Given the description of an element on the screen output the (x, y) to click on. 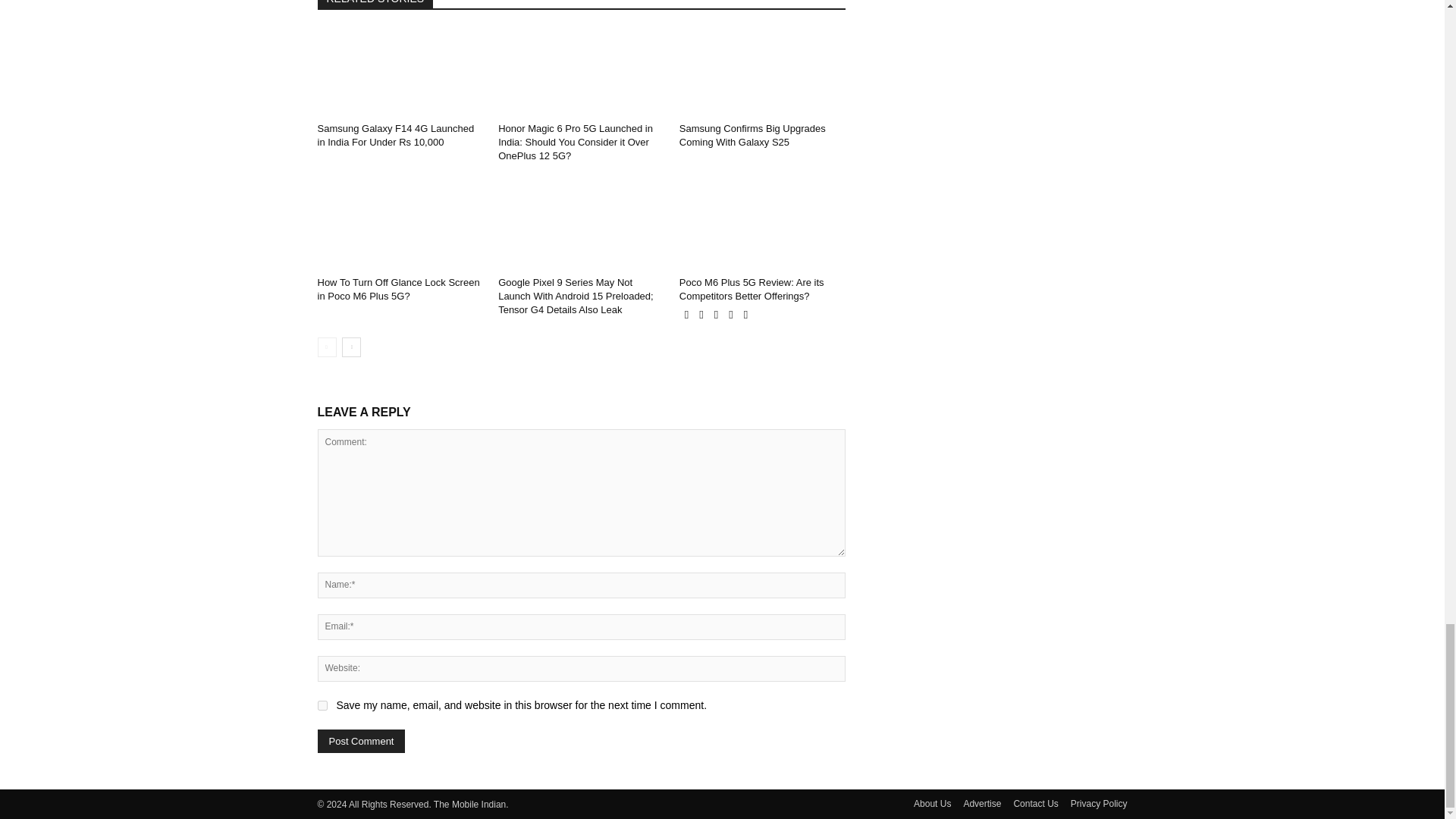
yes (321, 705)
Samsung Galaxy F14 4G Launched in India For Under Rs 10,000 (400, 70)
Samsung Galaxy F14 4G Launched in India For Under Rs 10,000 (395, 135)
Post Comment (360, 740)
